Given the description of an element on the screen output the (x, y) to click on. 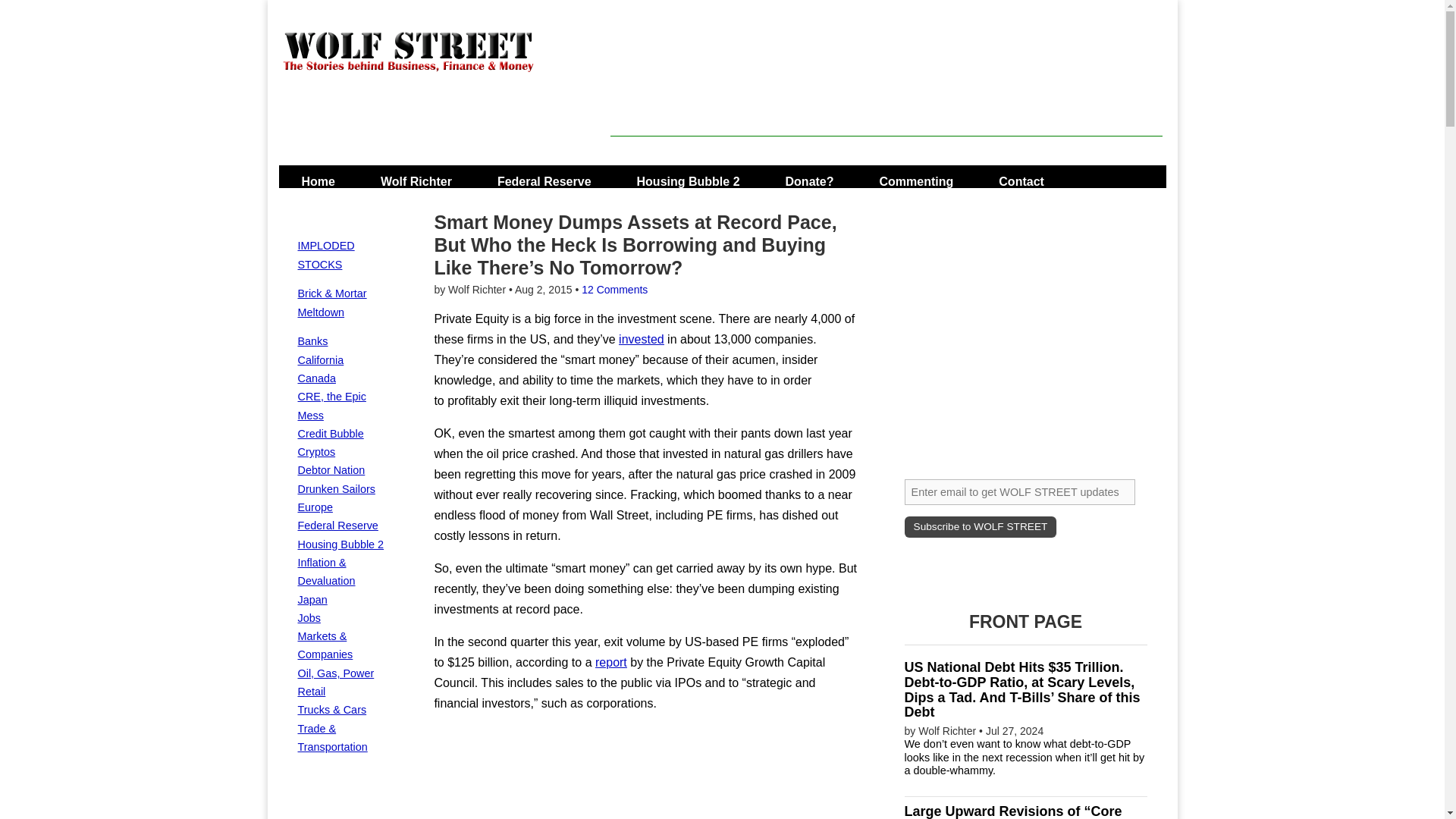
CRE, the Epic Mess (331, 405)
Housing Bubble 2 (340, 544)
Subscribe to WOLF STREET (980, 526)
View all posts filed under Cryptos (315, 451)
Skip to content (322, 175)
View all posts filed under Credit Bubble (329, 433)
Debtor Nation (331, 469)
Wolf Street (371, 162)
View all posts filed under California Daydreaming (320, 359)
View all posts filed under Federal Reserve (337, 525)
Oil, Gas, Power (335, 673)
Federal Reserve (544, 175)
Banks (312, 340)
Home (317, 175)
View all posts filed under Consumer (335, 489)
